Given the description of an element on the screen output the (x, y) to click on. 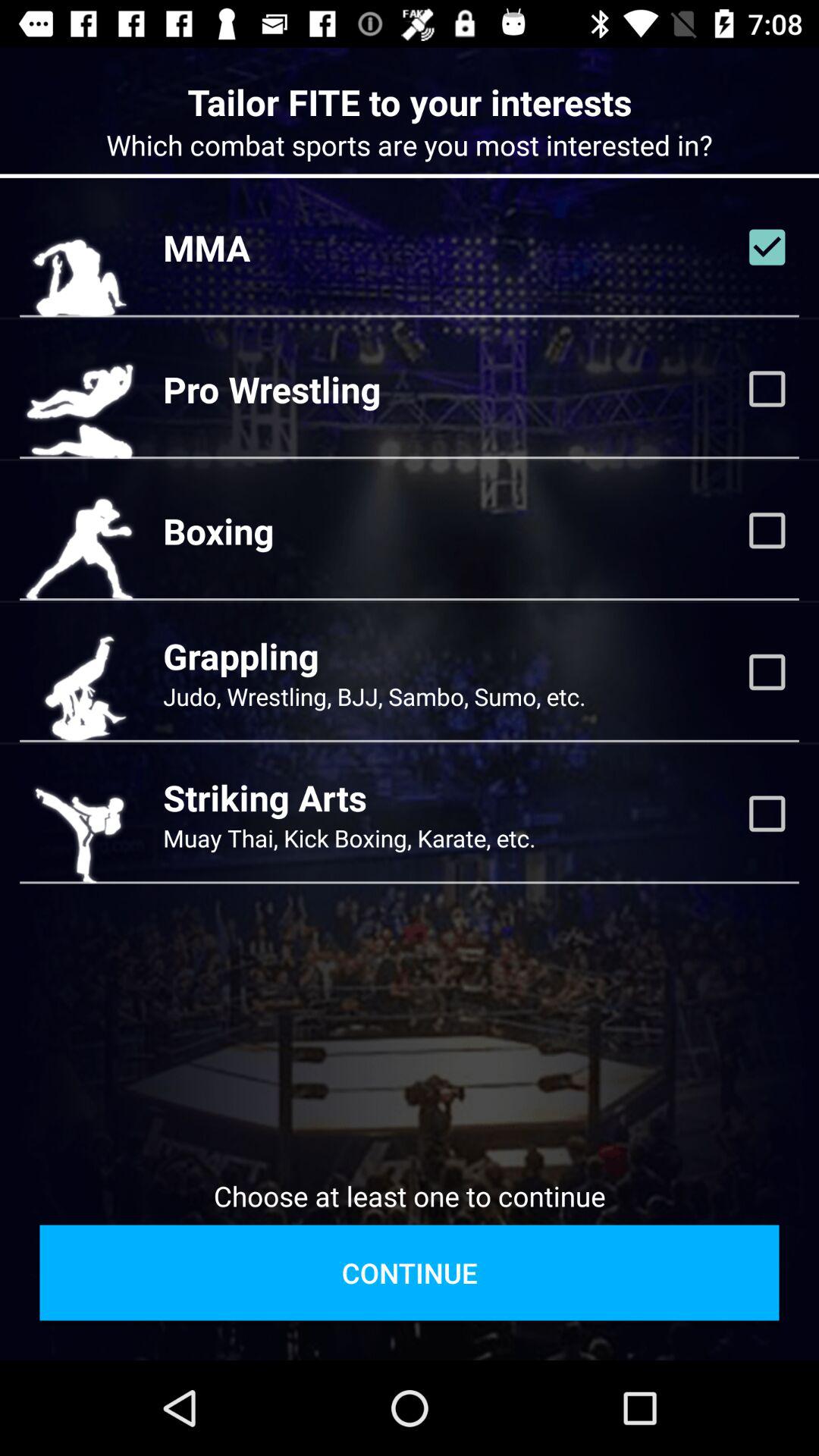
swipe to pro wrestling item (272, 389)
